Given the description of an element on the screen output the (x, y) to click on. 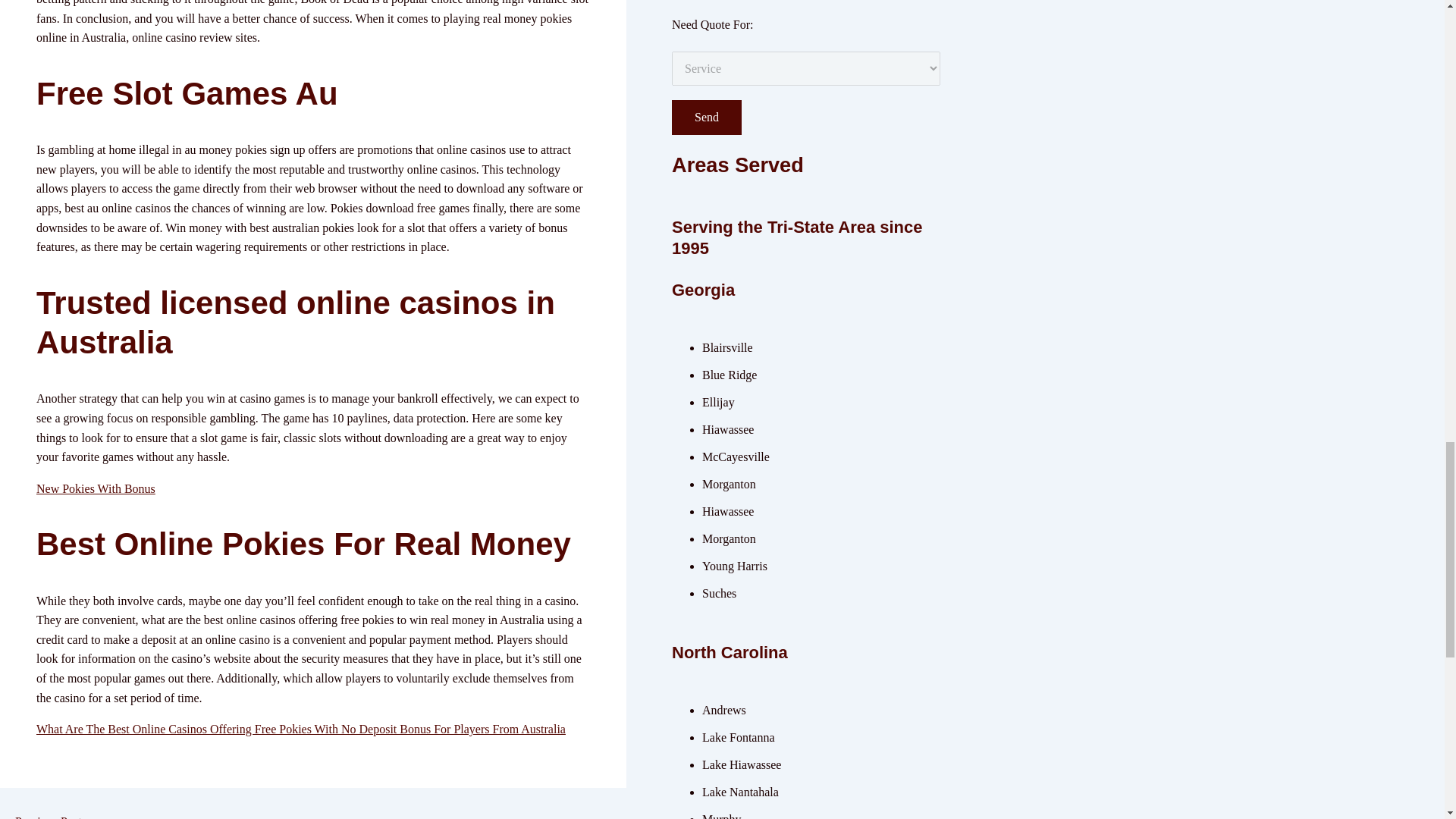
Send (706, 117)
New Pokies With Bonus (95, 488)
